Given the description of an element on the screen output the (x, y) to click on. 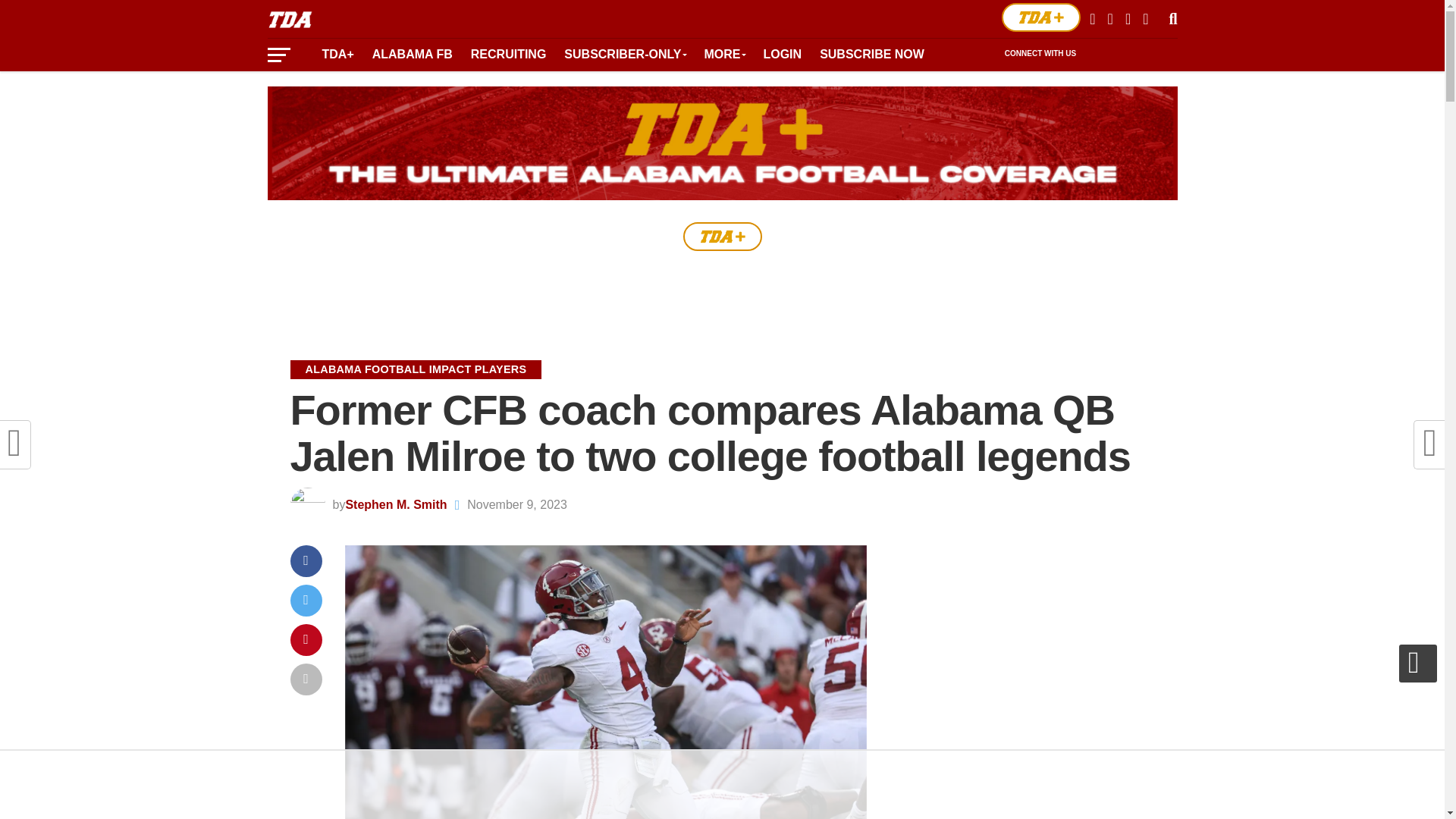
Posts by Stephen M. Smith (395, 504)
